Given the description of an element on the screen output the (x, y) to click on. 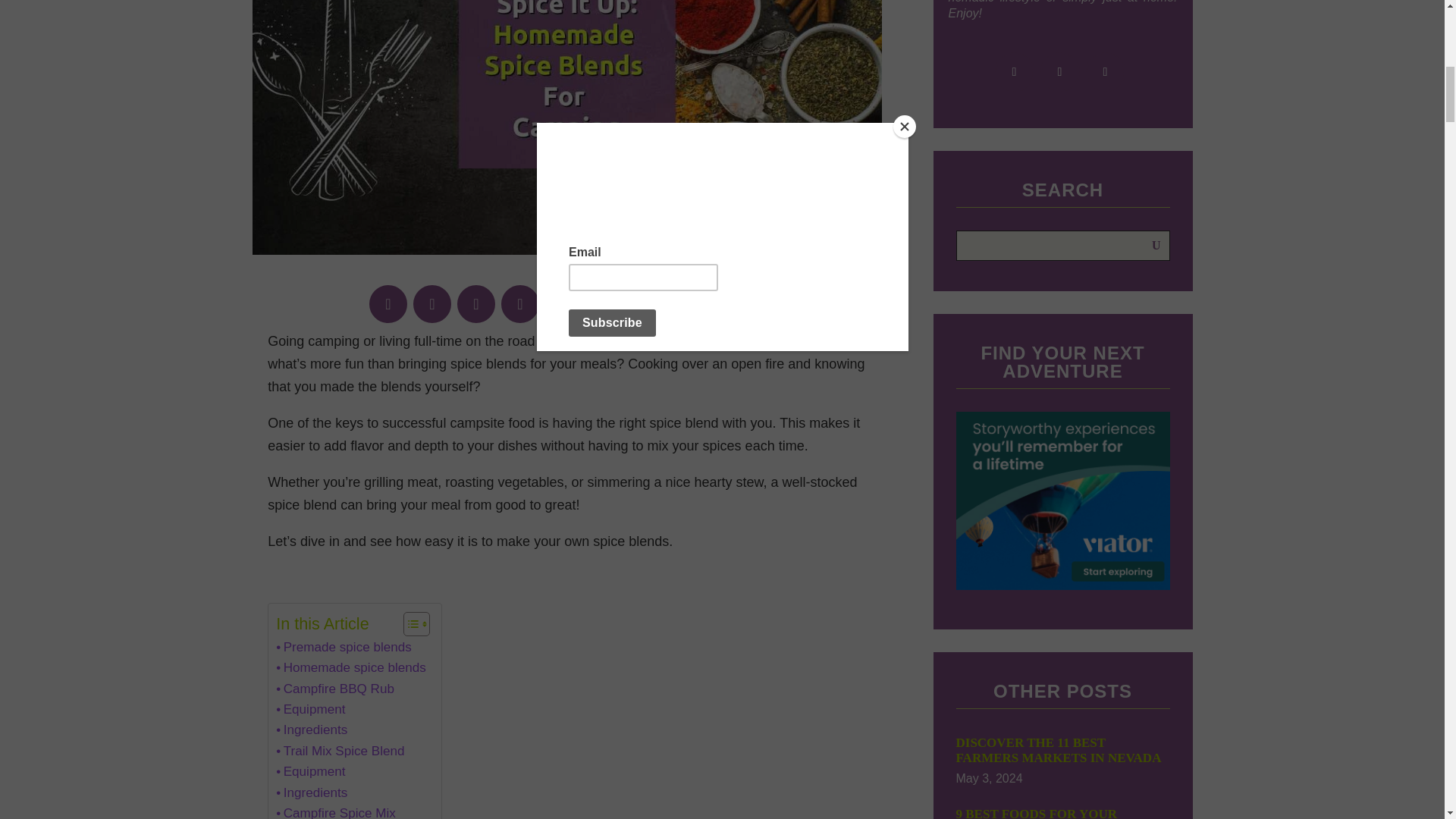
Premade spice blends (344, 647)
Campfire BBQ Rub (335, 688)
Equipment (310, 709)
Ingredients (311, 792)
Trail Mix Spice Blend (340, 751)
Homemade spice blends (351, 667)
Ingredients (311, 729)
Equipment (310, 771)
Campfire Spice Mix (336, 811)
Search (1153, 245)
